Given the description of an element on the screen output the (x, y) to click on. 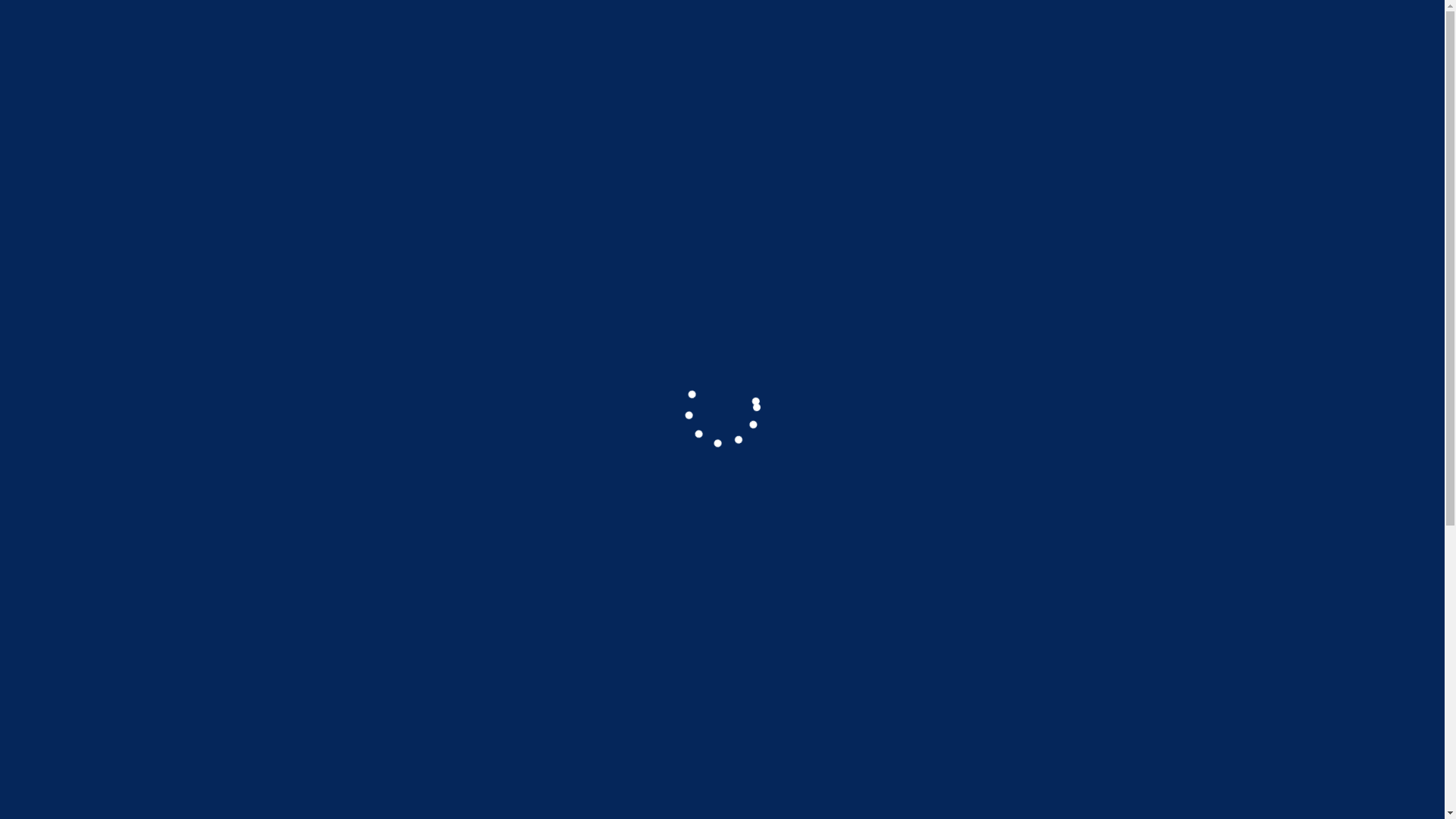
Email: odotechrol@mail.ru / info@mdm.by Element type: text (912, 19)
